Given the description of an element on the screen output the (x, y) to click on. 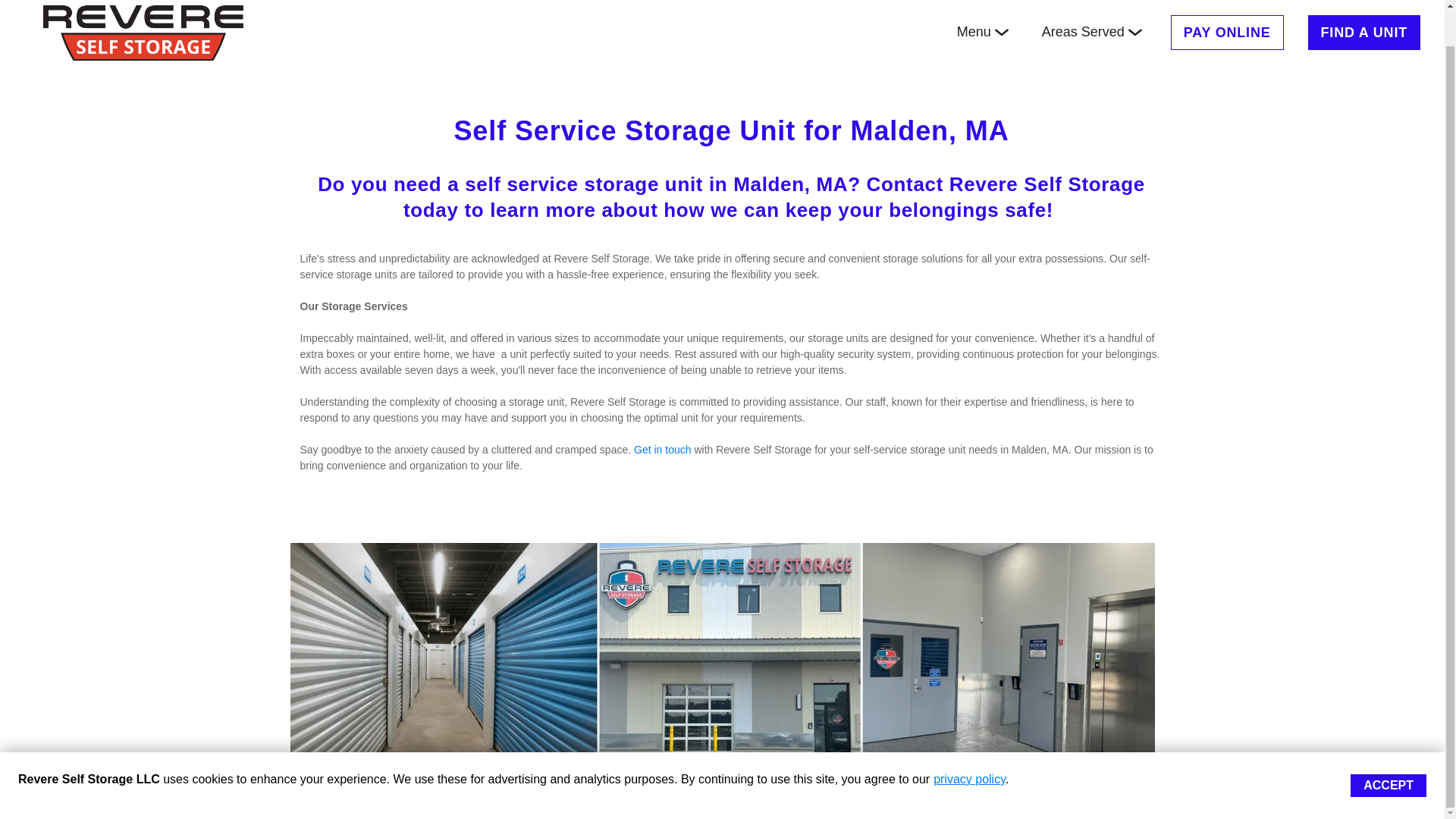
Powered by (344, 796)
group (1134, 32)
Areas Servedgroup (1091, 31)
PAY ONLINE (1227, 32)
Revere Self Storage Logo (143, 32)
ACCEPT (1388, 747)
Privacy (833, 796)
Menugroup (982, 31)
FIND A UNIT (1364, 32)
privacy policy (969, 740)
group (1001, 32)
Admin (1138, 796)
Terms (794, 796)
Get in touch (662, 449)
